Given the description of an element on the screen output the (x, y) to click on. 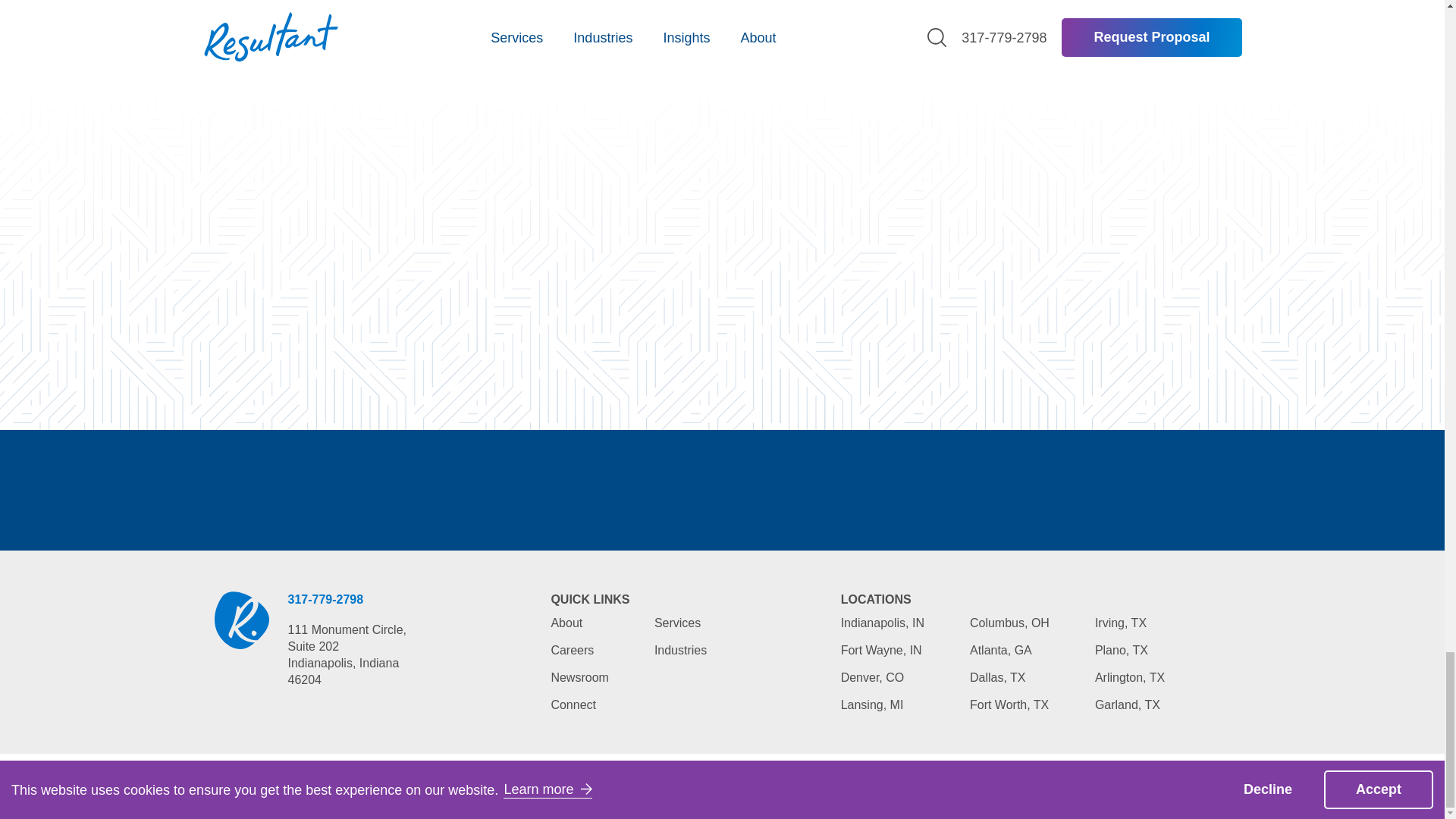
X (1188, 785)
LinkedIn (1070, 785)
Instagram (1113, 785)
YouTube (1227, 785)
Resultant logo (240, 620)
Facebook (1150, 785)
